Given the description of an element on the screen output the (x, y) to click on. 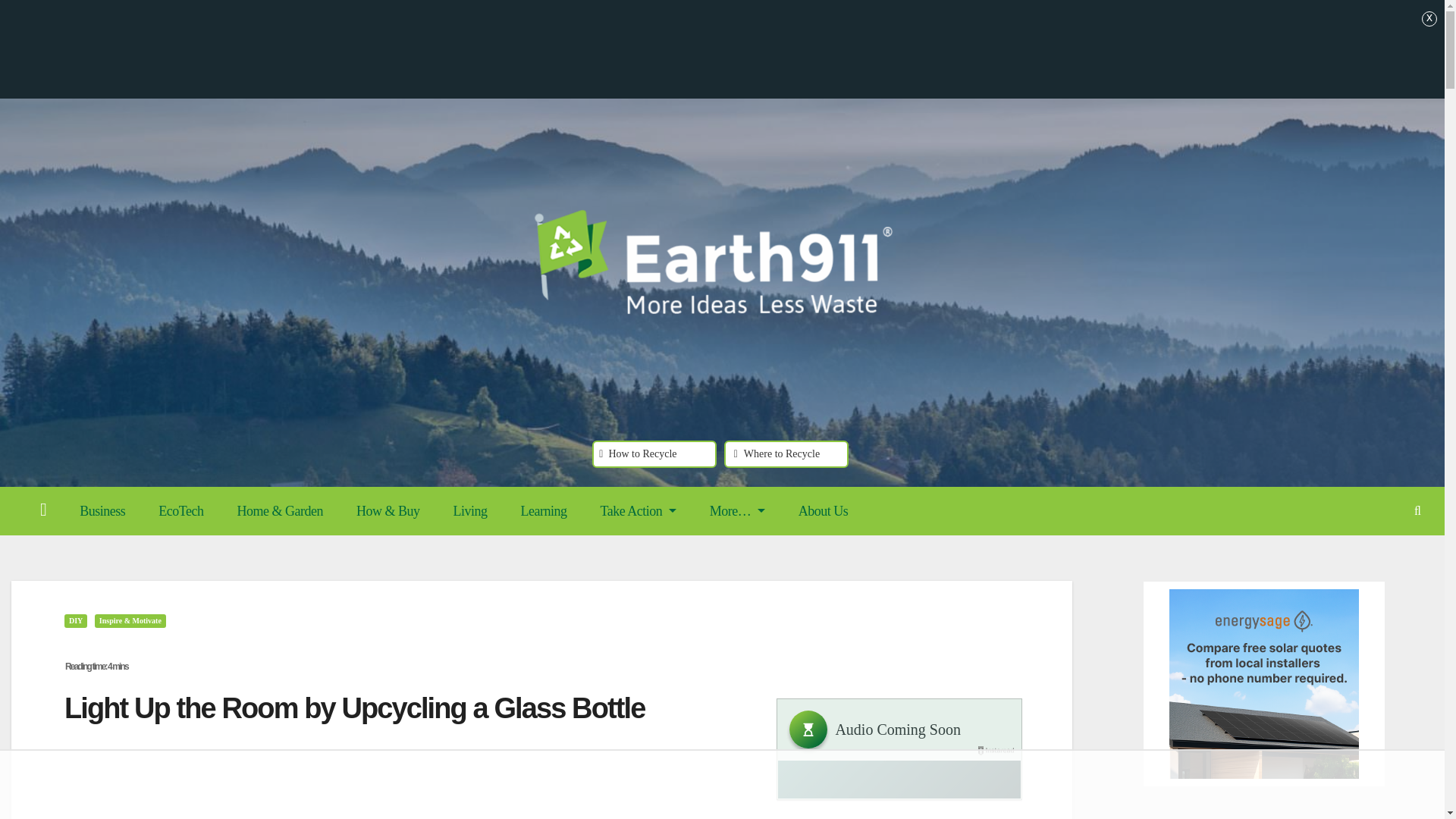
Living (469, 511)
Home (42, 511)
DIY (75, 621)
Light Up the Room by Upcycling a Glass Bottle (414, 683)
Learning (543, 511)
Business (101, 511)
Take Action (638, 511)
How to Recycle (654, 453)
EcoTech (180, 511)
More... (737, 511)
EcoTech (180, 511)
Living (469, 511)
About Us (822, 511)
Learning (543, 511)
Business (101, 511)
